Given the description of an element on the screen output the (x, y) to click on. 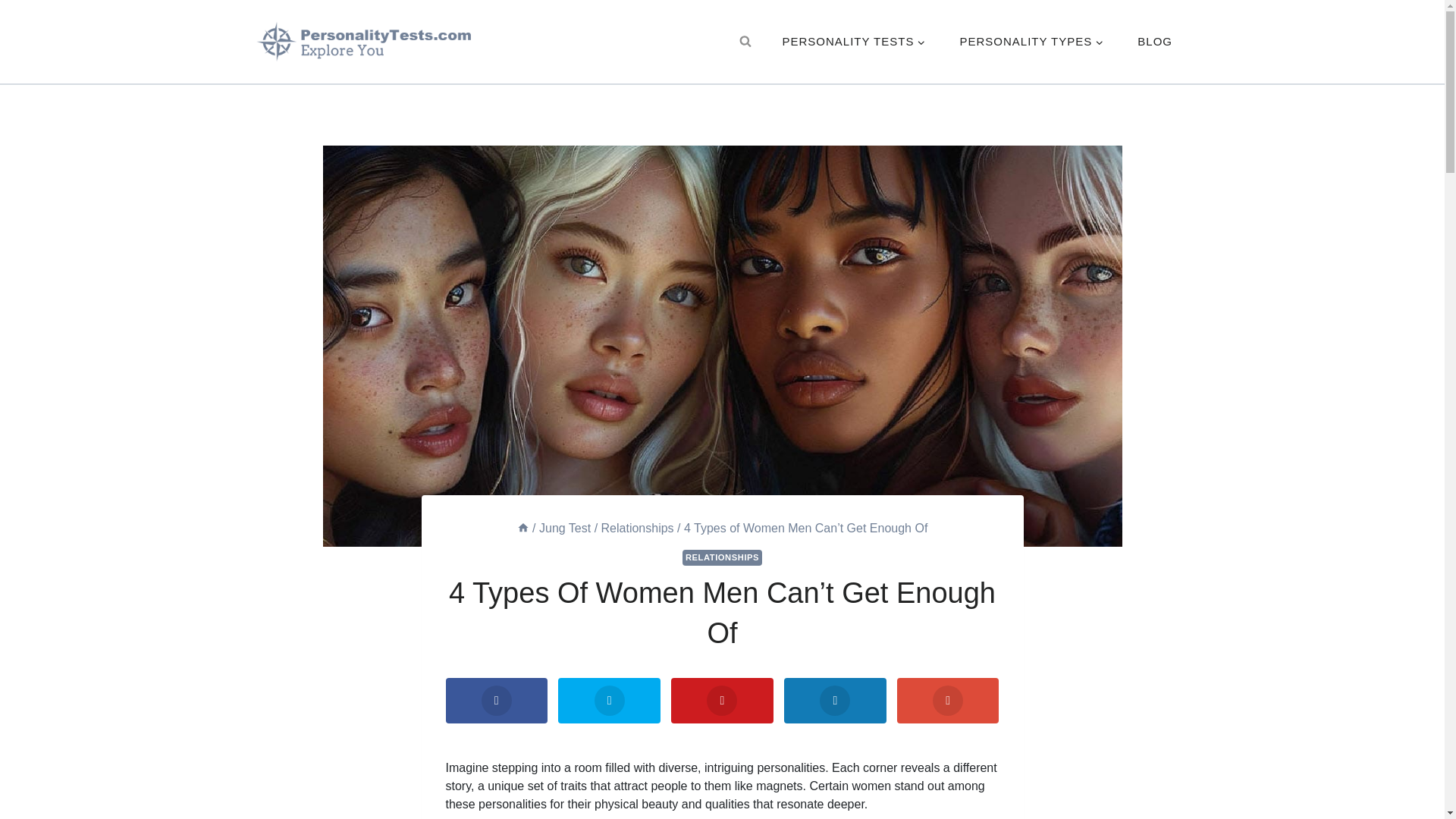
Jung Test (564, 527)
Home (522, 527)
BLOG (1155, 41)
PERSONALITY TESTS (853, 41)
Relationships (637, 527)
PERSONALITY TYPES (1031, 41)
RELATIONSHIPS (721, 557)
